Given the description of an element on the screen output the (x, y) to click on. 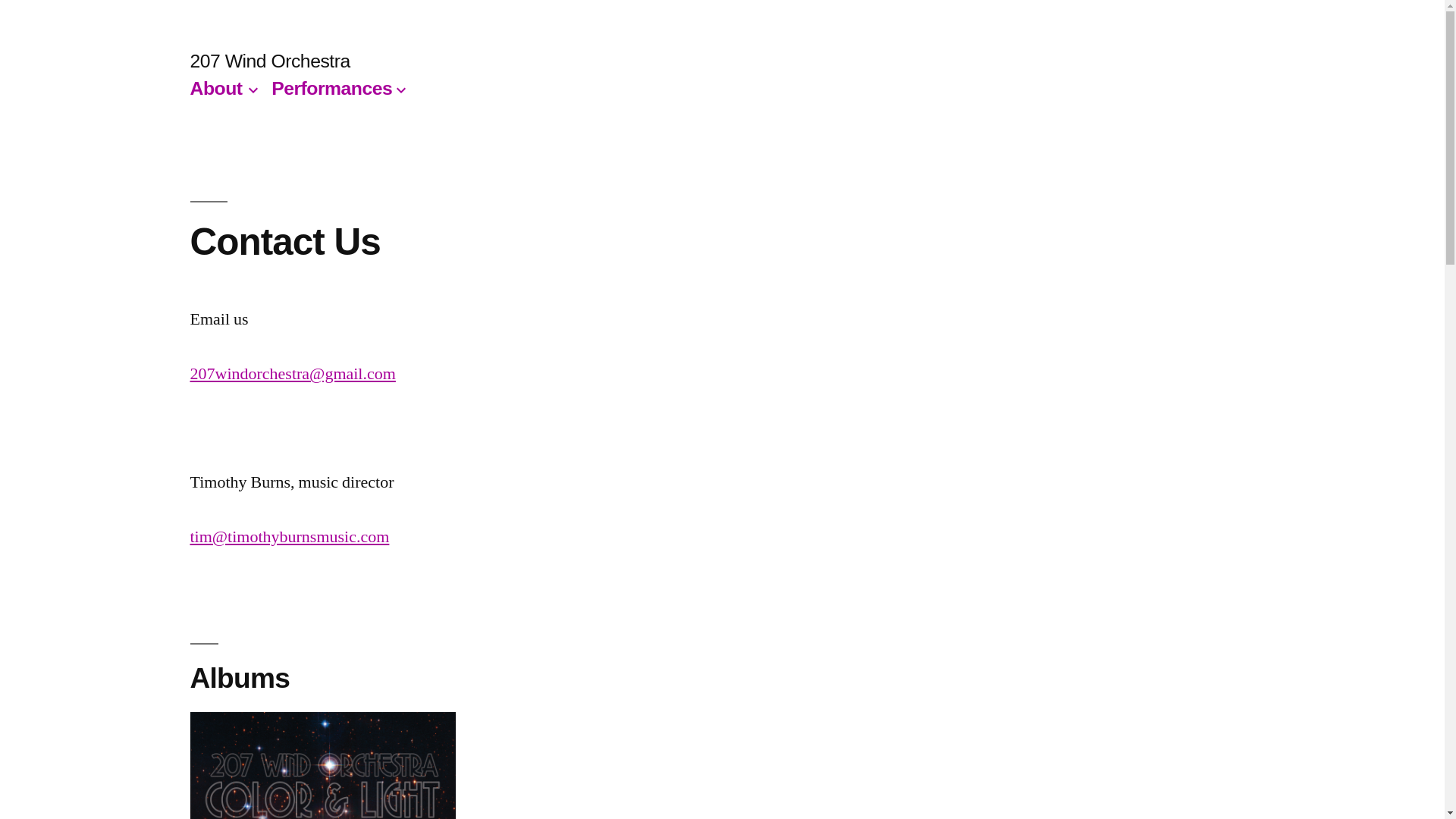
207 Wind Orchestra Element type: text (269, 60)
tim@timothyburnsmusic.com Element type: text (289, 536)
207windorchestra@gmail.com Element type: text (292, 373)
About Element type: text (215, 88)
Performances Element type: text (331, 88)
